Given the description of an element on the screen output the (x, y) to click on. 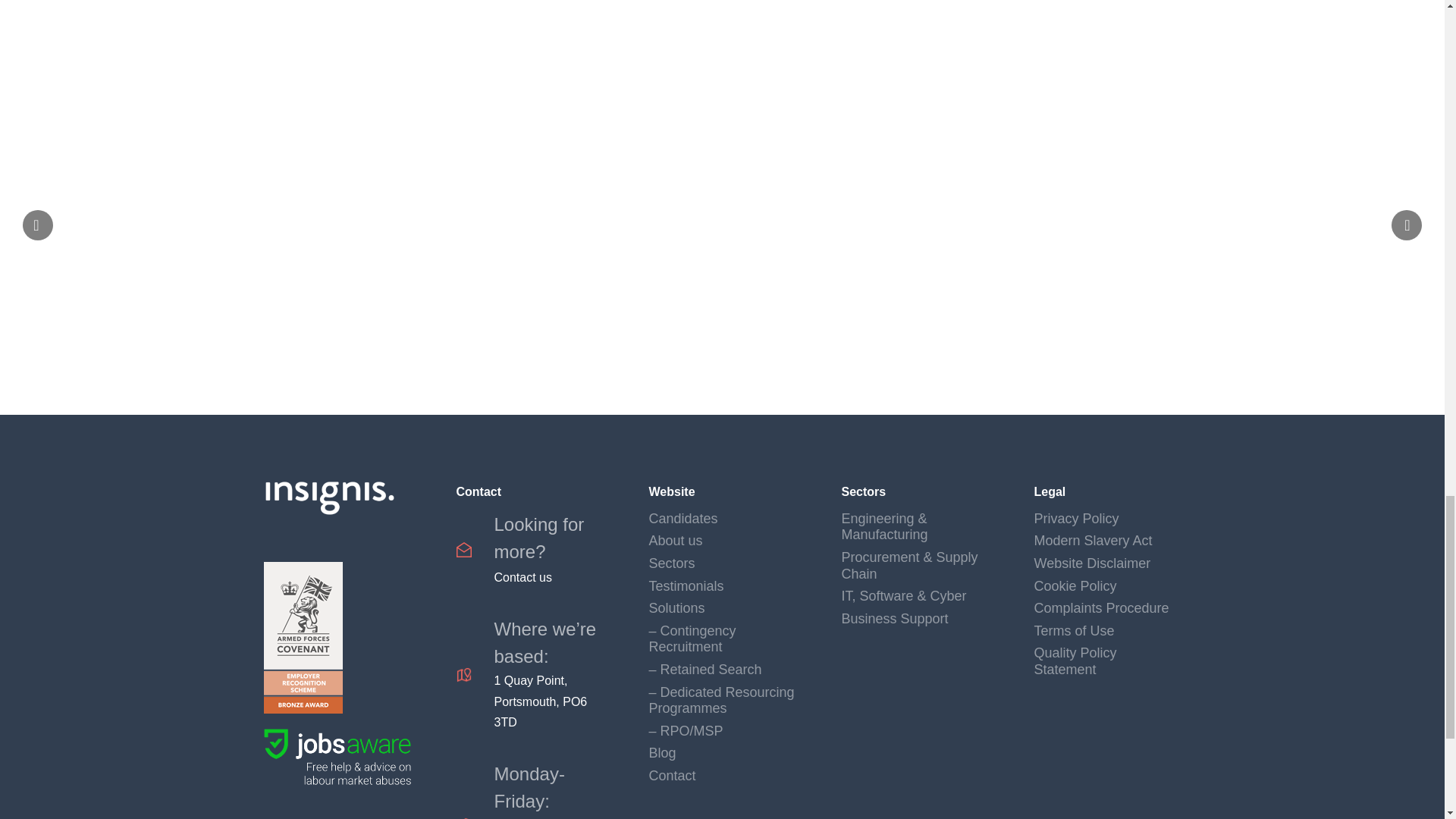
Contact (530, 549)
